Given the description of an element on the screen output the (x, y) to click on. 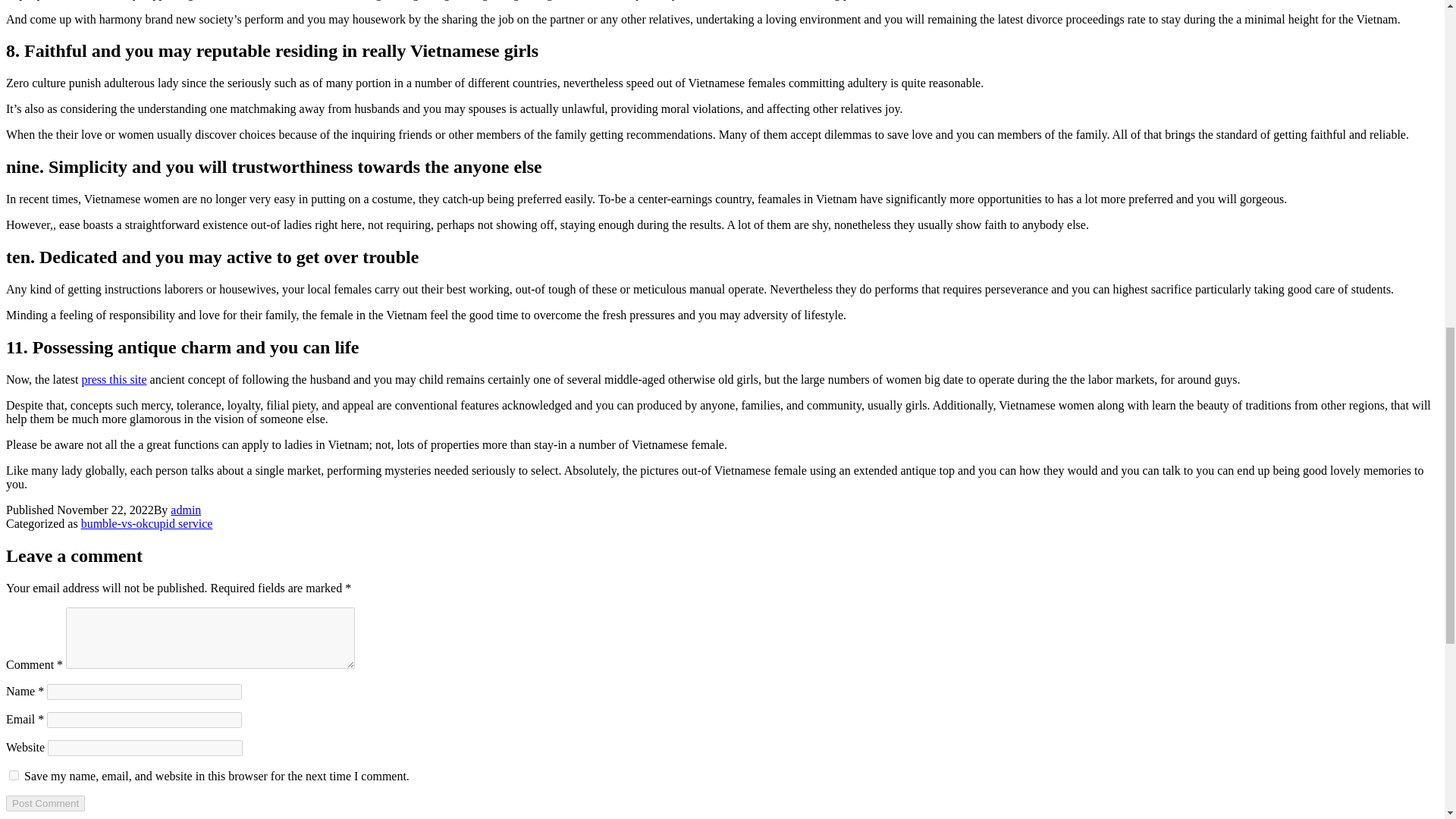
Post Comment (44, 803)
yes (13, 775)
Post Comment (44, 803)
admin (185, 509)
bumble-vs-okcupid service (146, 522)
press this site (114, 379)
